Given the description of an element on the screen output the (x, y) to click on. 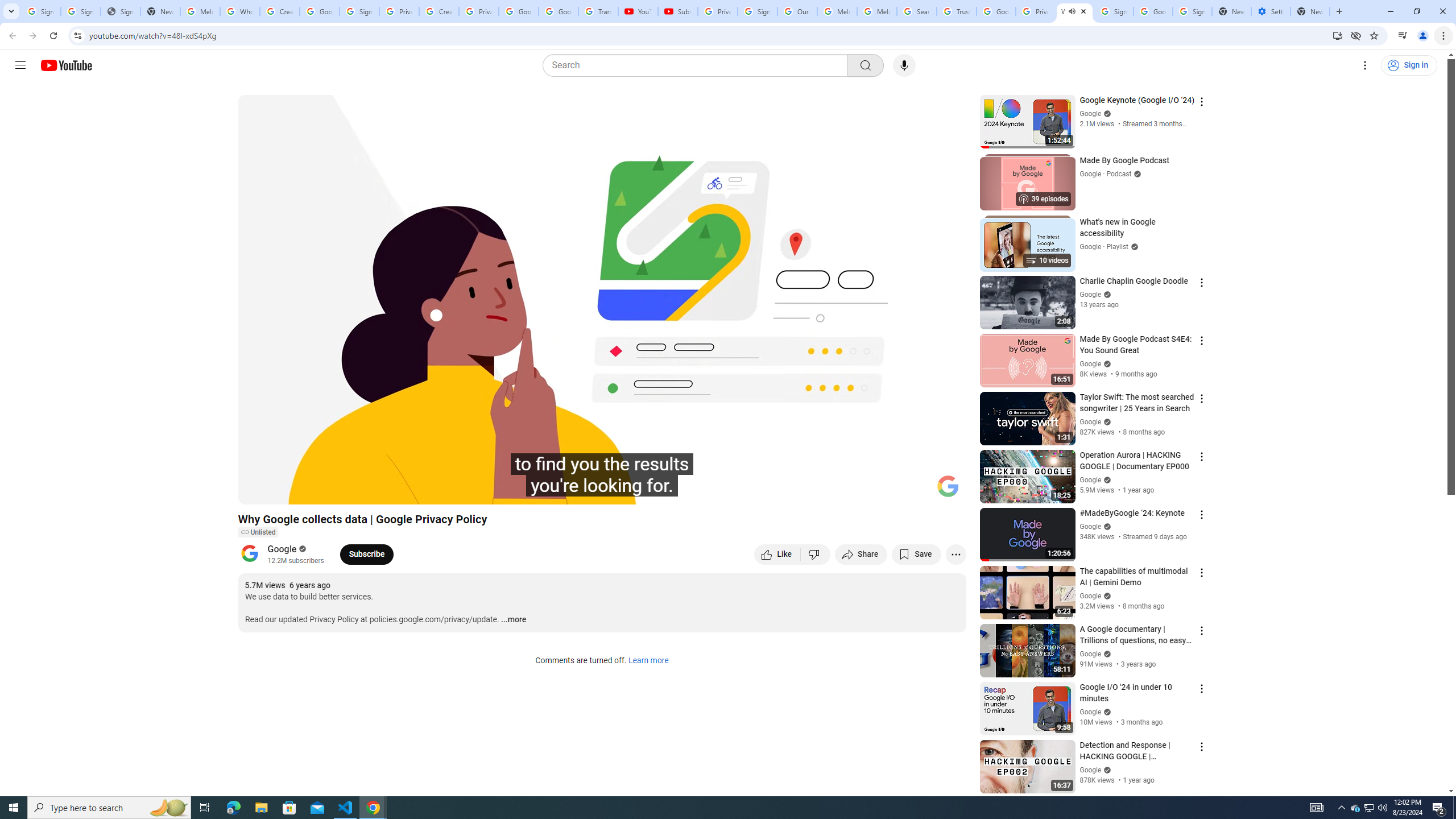
Unlisted (257, 532)
Learn more (647, 661)
Dislike this video (815, 554)
More actions (955, 554)
Who is my administrator? - Google Account Help (239, 11)
Miniplayer (i) (890, 490)
